Given the description of an element on the screen output the (x, y) to click on. 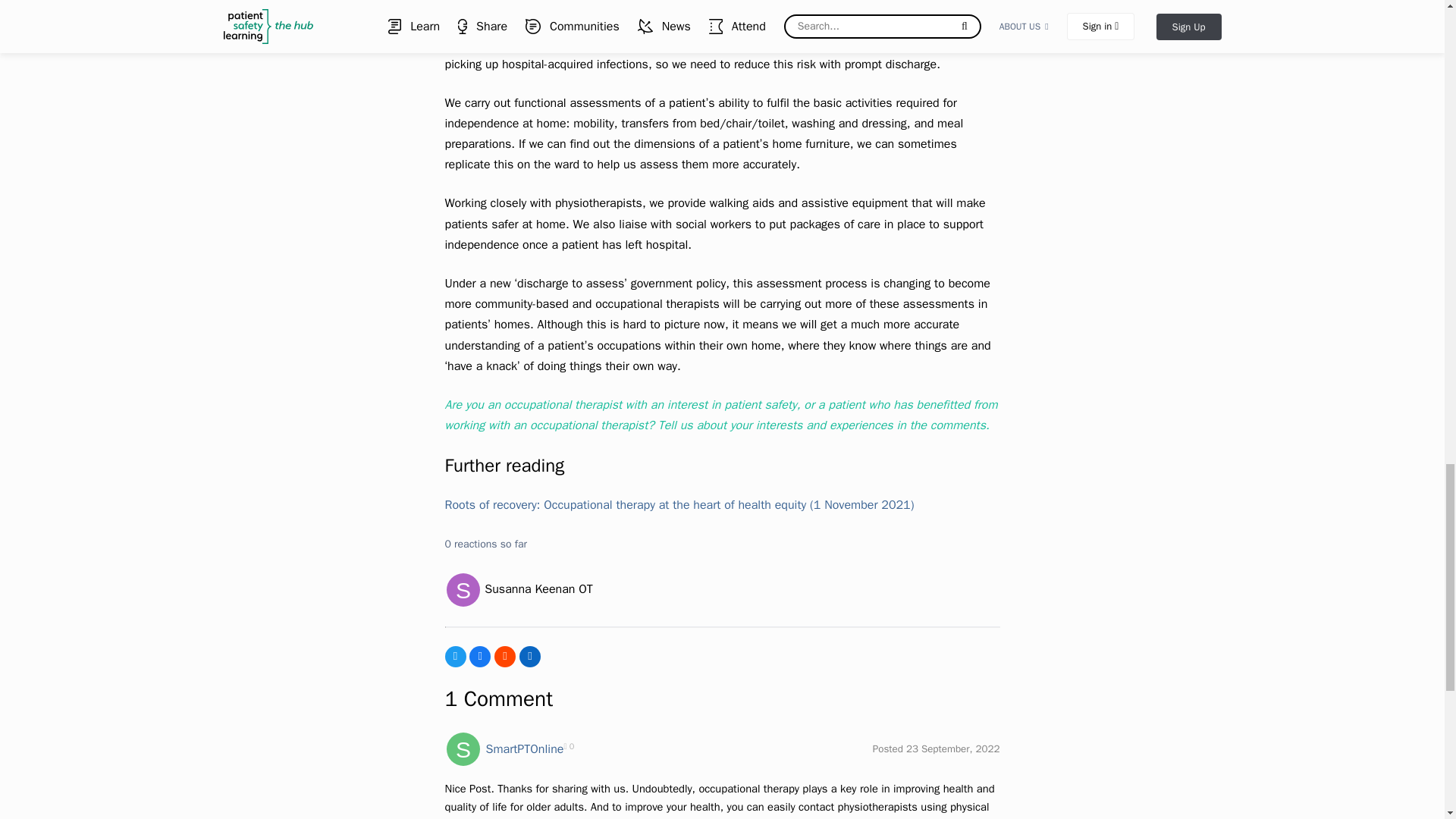
Share on Twitter (454, 656)
Share on Reddit (505, 656)
Share on Facebook (479, 656)
Go to Susanna Keenan OT's profile (462, 589)
